Given the description of an element on the screen output the (x, y) to click on. 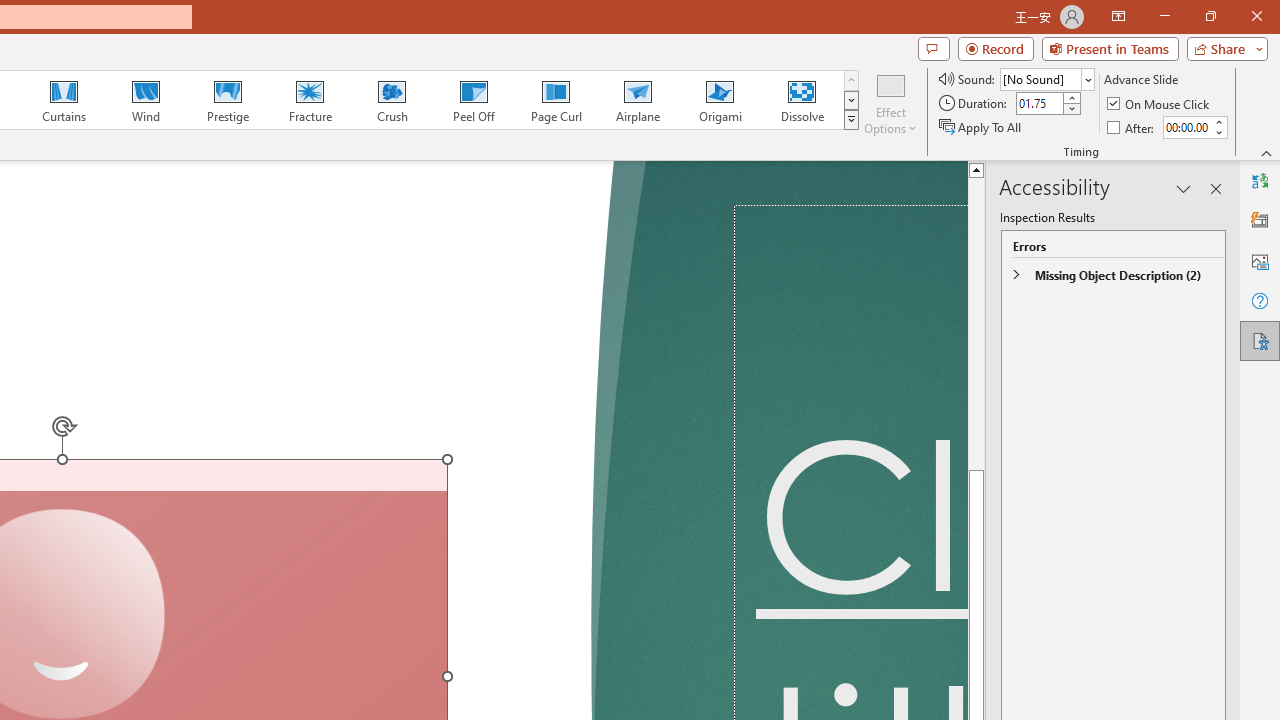
Less (1218, 132)
Accessibility (1260, 340)
Peel Off (473, 100)
On Mouse Click (1159, 103)
After (1186, 127)
Close (1256, 16)
Effect Options (890, 102)
Transition Effects (850, 120)
Sound (1046, 78)
Comments (933, 48)
Duration (1039, 103)
Open (1087, 79)
Line up (976, 169)
Apply To All (981, 126)
Wind (145, 100)
